Given the description of an element on the screen output the (x, y) to click on. 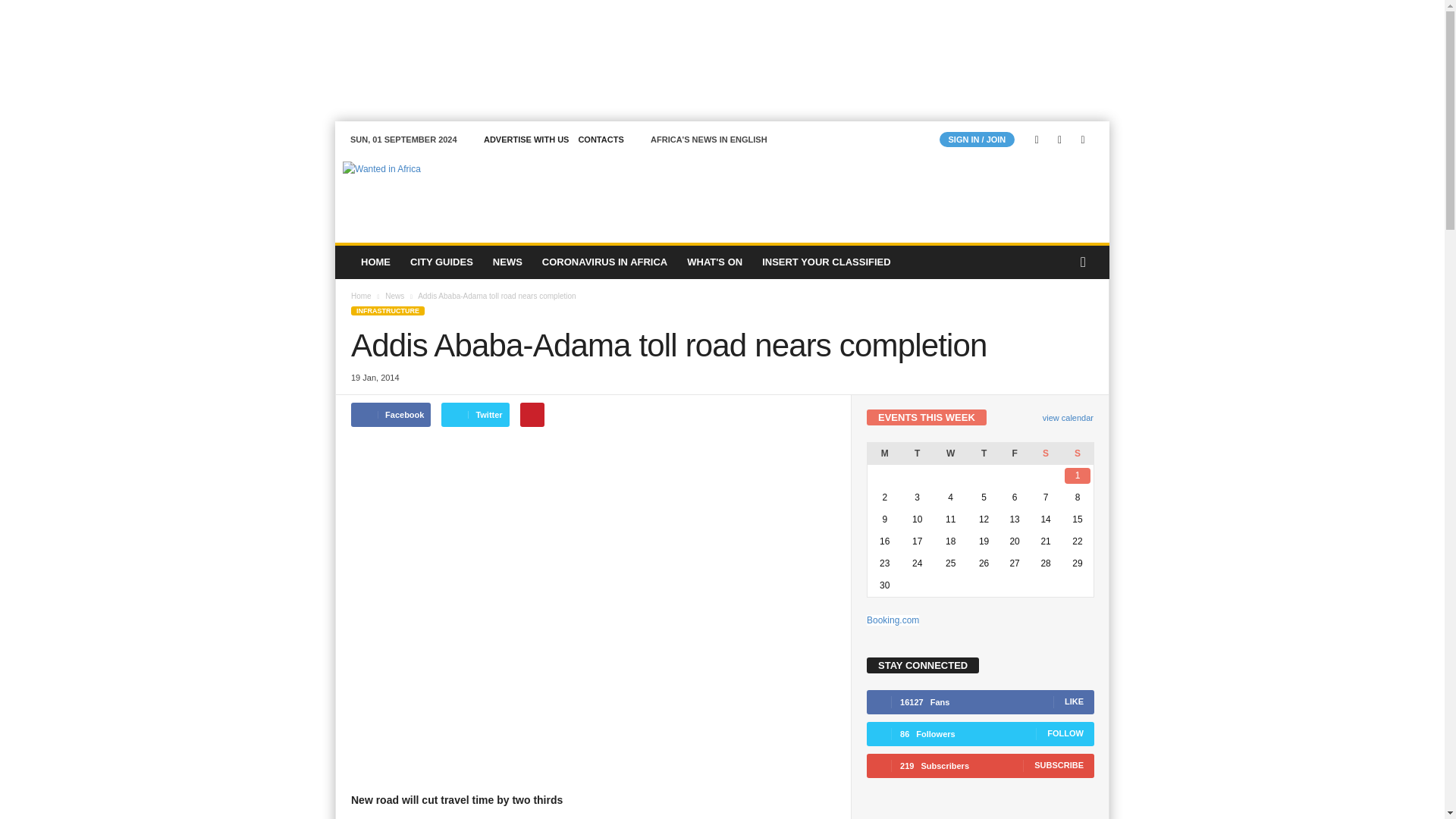
CONTACTS (600, 139)
Wanted in Africa (437, 192)
Wanted in Africa (437, 192)
ADVERTISE WITH US (526, 139)
